Given the description of an element on the screen output the (x, y) to click on. 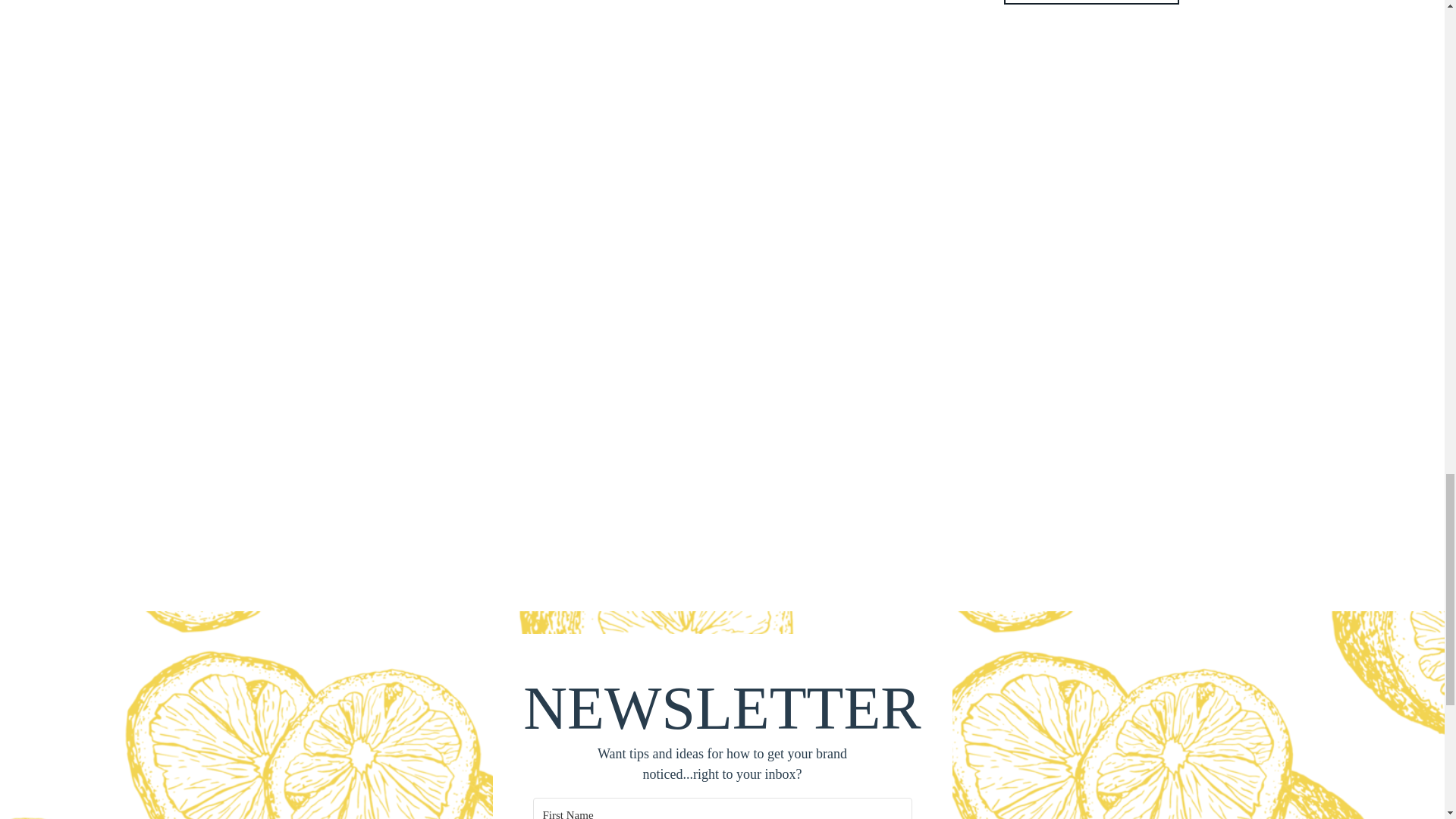
NEWSLETTER (722, 704)
